Given the description of an element on the screen output the (x, y) to click on. 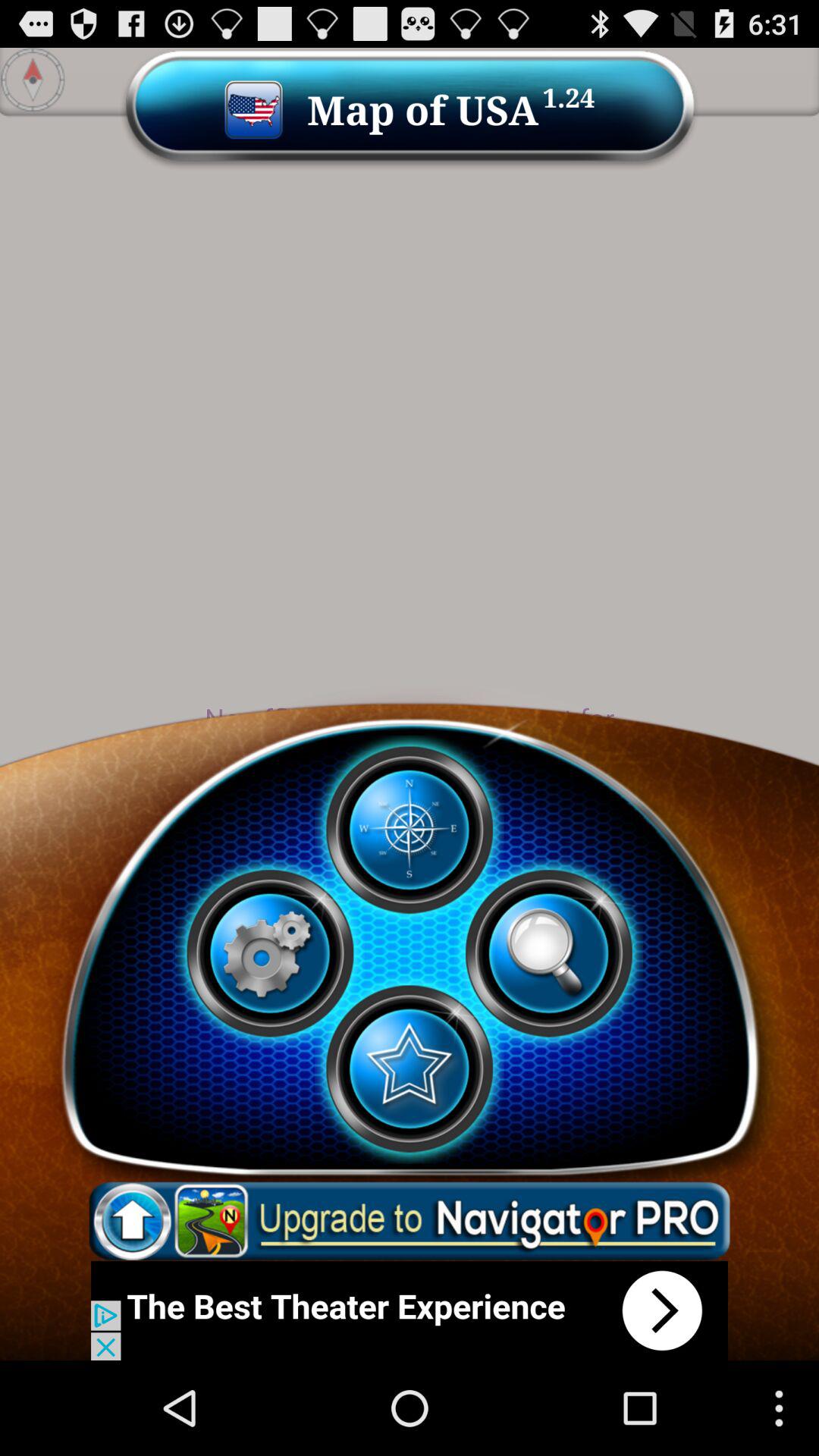
view advertisement (409, 1310)
